Given the description of an element on the screen output the (x, y) to click on. 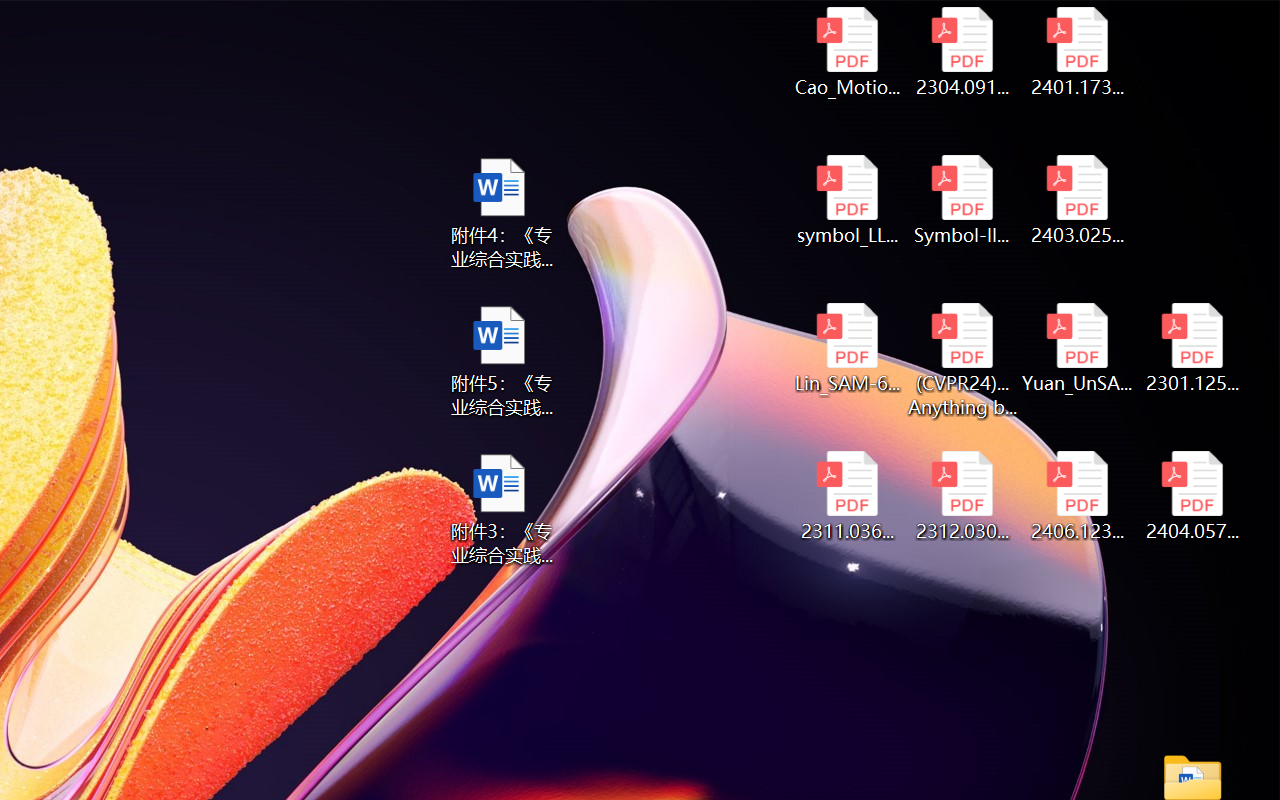
Symbol-llm-v2.pdf (962, 200)
2311.03658v2.pdf (846, 496)
symbol_LLM.pdf (846, 200)
2403.02502v1.pdf (1077, 200)
2312.03032v2.pdf (962, 496)
2404.05719v1.pdf (1192, 496)
(CVPR24)Matching Anything by Segmenting Anything.pdf (962, 360)
2406.12373v2.pdf (1077, 496)
2401.17399v1.pdf (1077, 52)
2304.09121v3.pdf (962, 52)
